Given the description of an element on the screen output the (x, y) to click on. 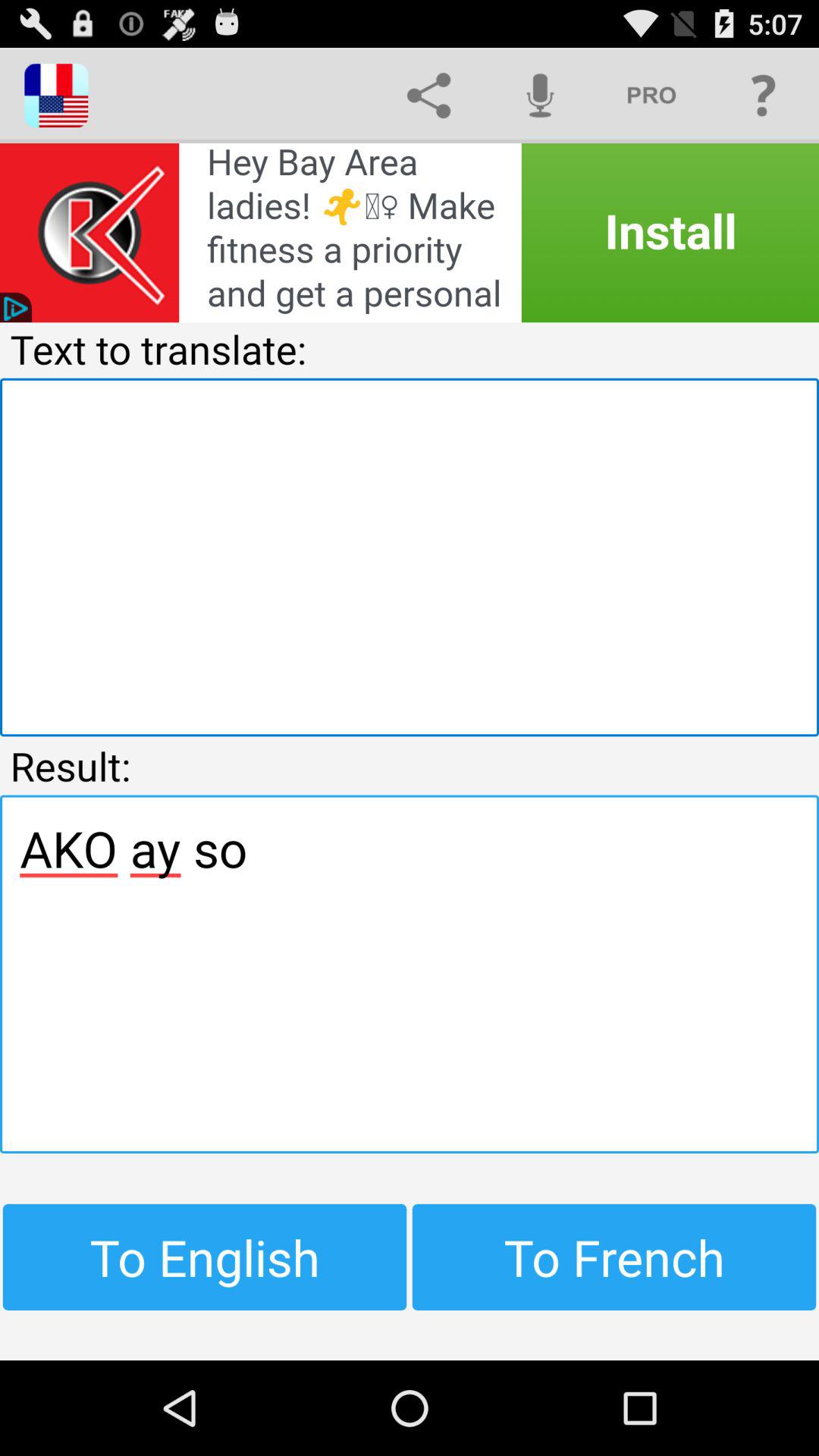
launch item below ako ay so item (614, 1257)
